Given the description of an element on the screen output the (x, y) to click on. 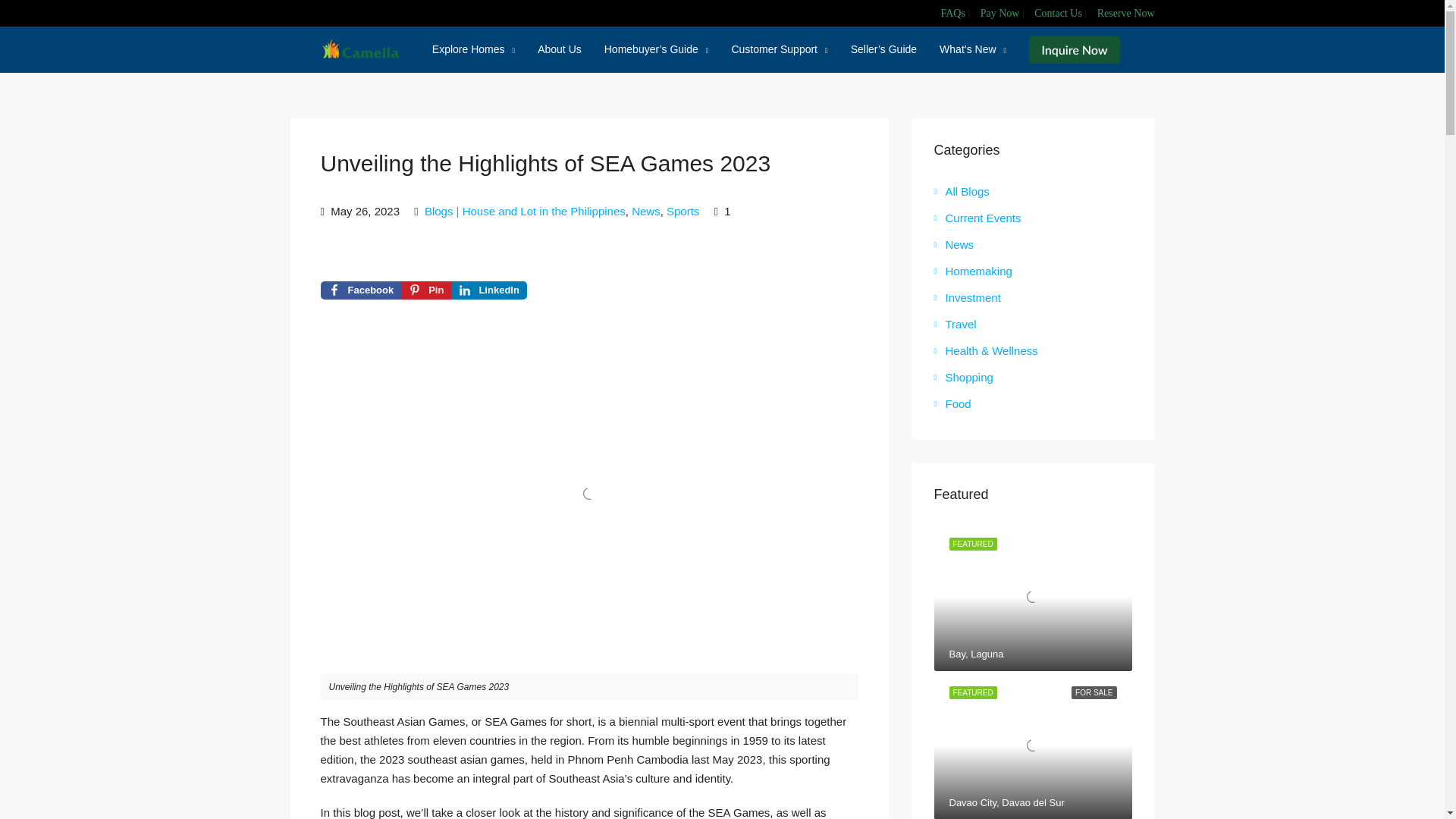
Contact Us (1057, 12)
Explore Homes (472, 49)
Reserve Now (1125, 12)
About Us (558, 49)
Share on Pinterest (426, 290)
Customer Support (778, 49)
FAQs (951, 12)
Share on Facebook (360, 290)
Share on LinkedIn (488, 290)
Pay Now (999, 12)
